Given the description of an element on the screen output the (x, y) to click on. 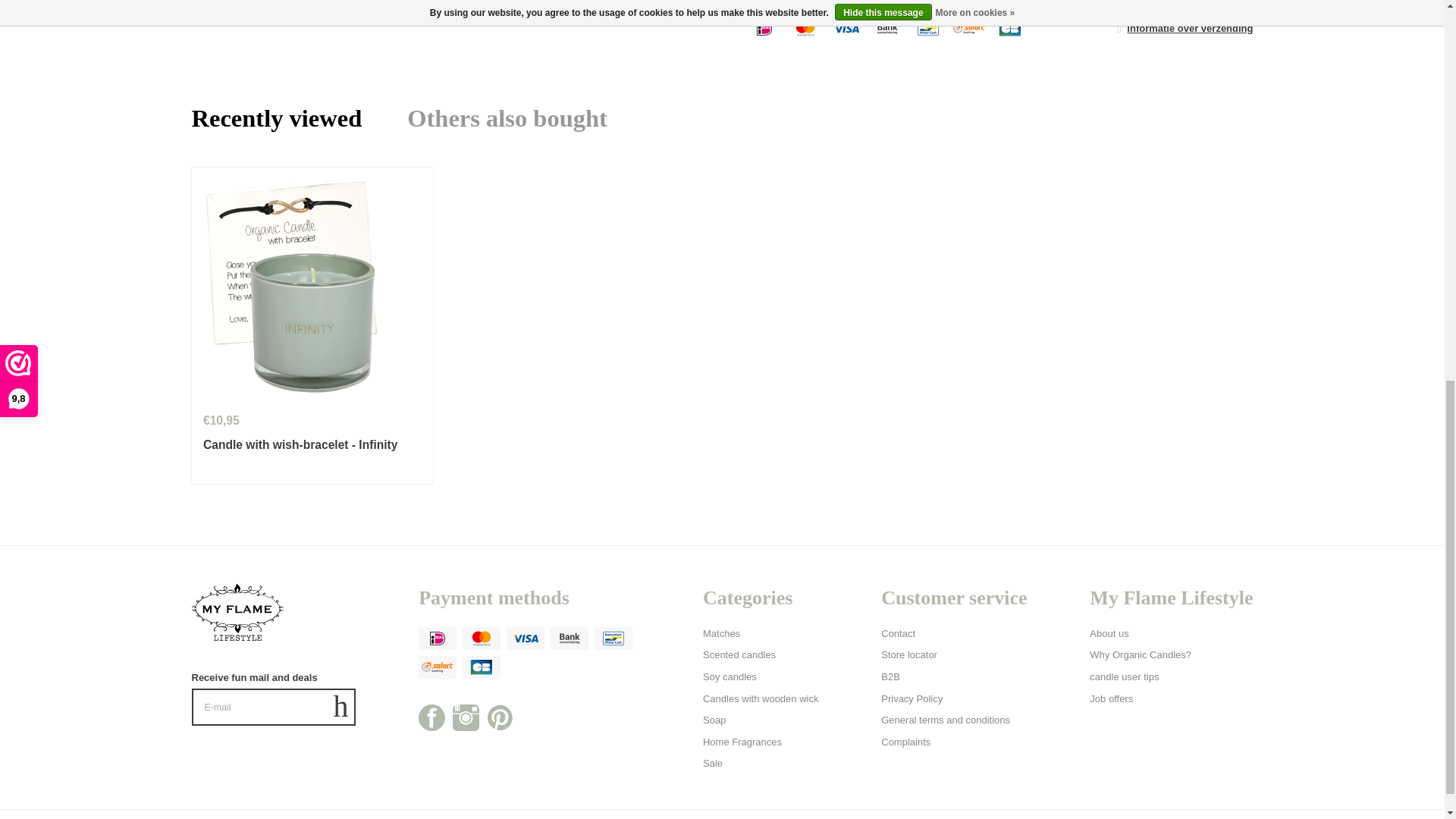
1 (765, 1)
